Given the description of an element on the screen output the (x, y) to click on. 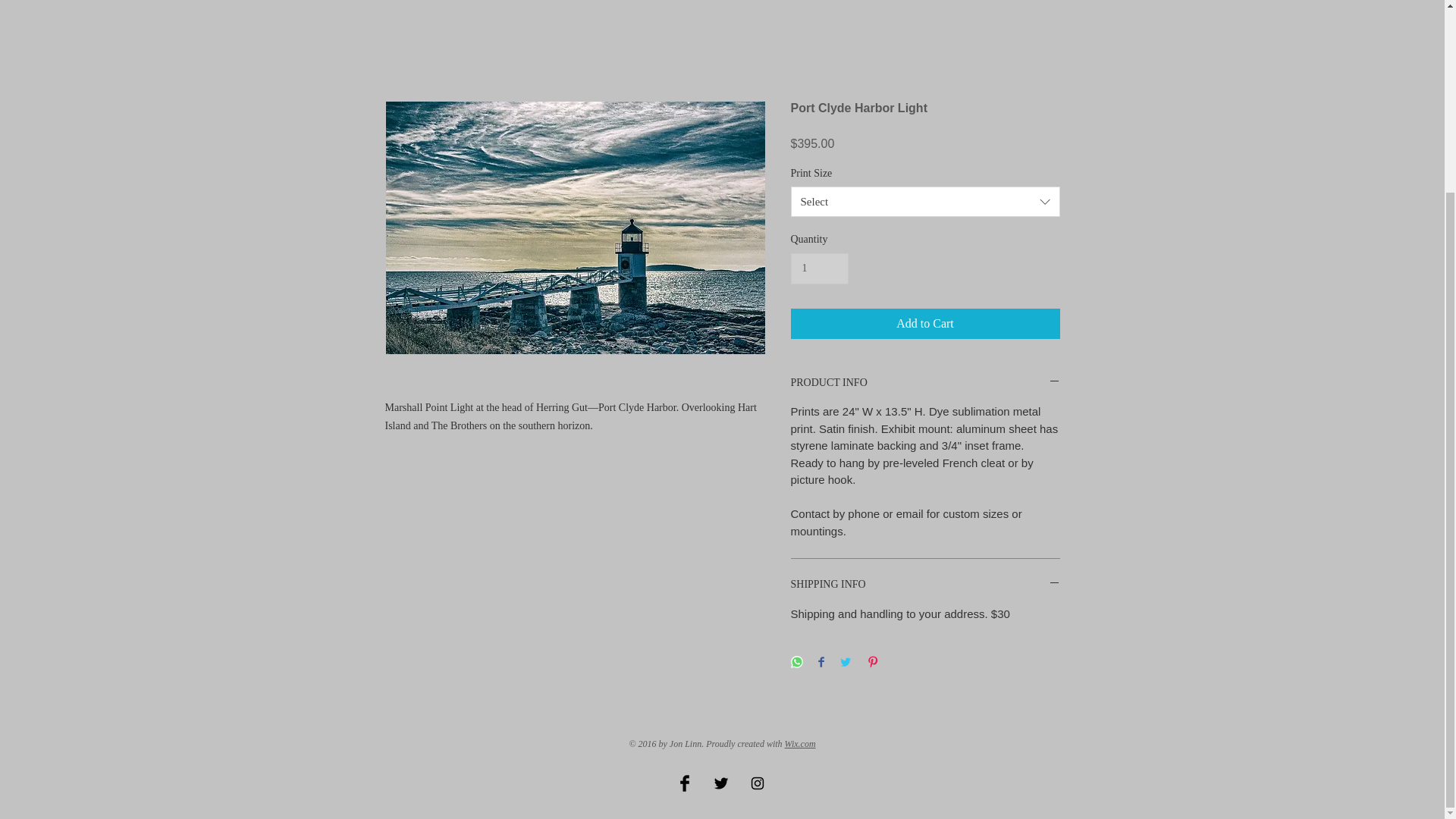
1 (818, 268)
Wix.com (799, 743)
SHIPPING INFO (924, 584)
Add to Cart (924, 323)
Select (924, 201)
PRODUCT INFO (924, 383)
